Given the description of an element on the screen output the (x, y) to click on. 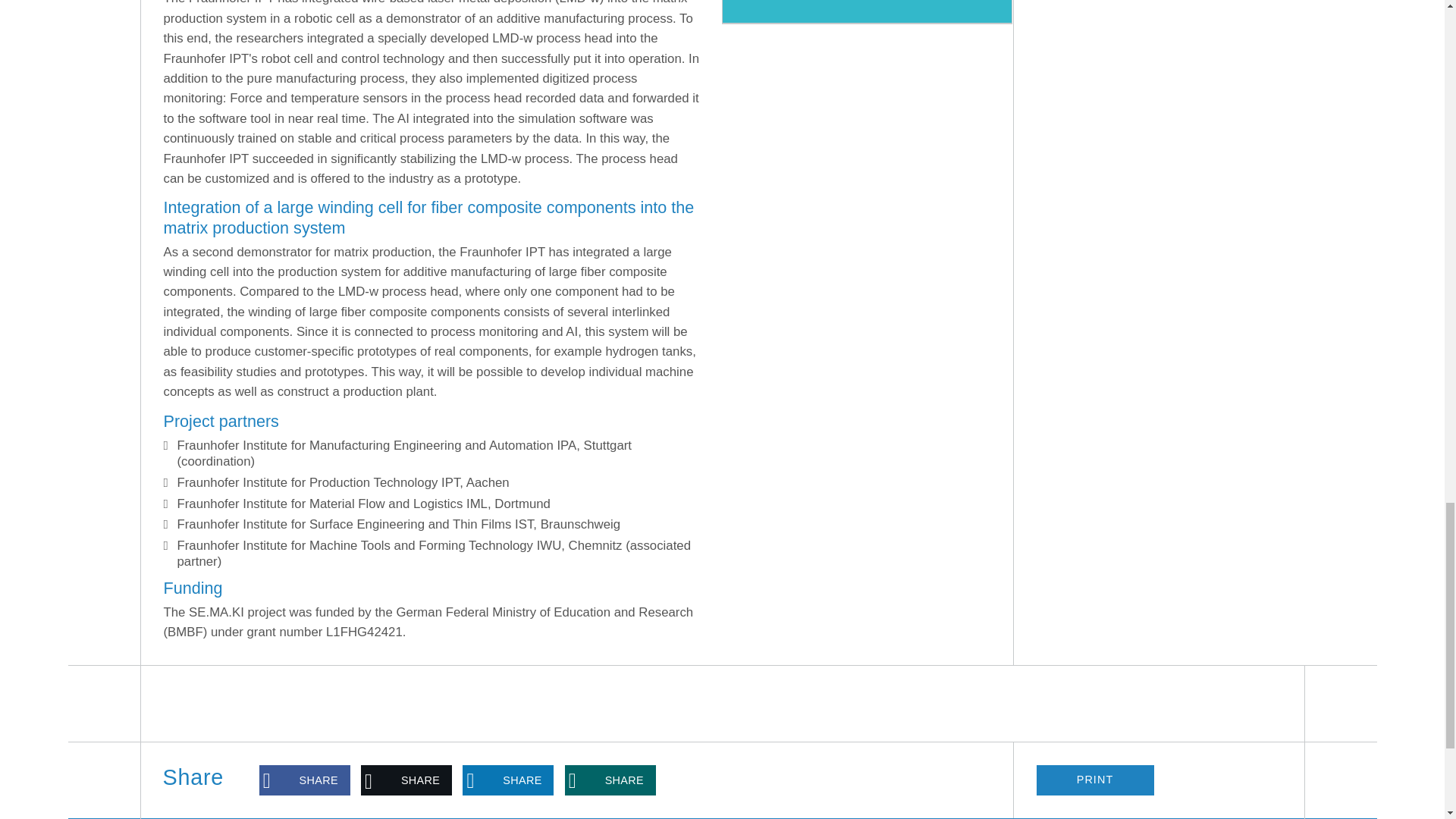
Share on Facebook (304, 779)
Share on XING (610, 779)
Share on X (406, 779)
Share on LinkedIn (508, 779)
